Given the description of an element on the screen output the (x, y) to click on. 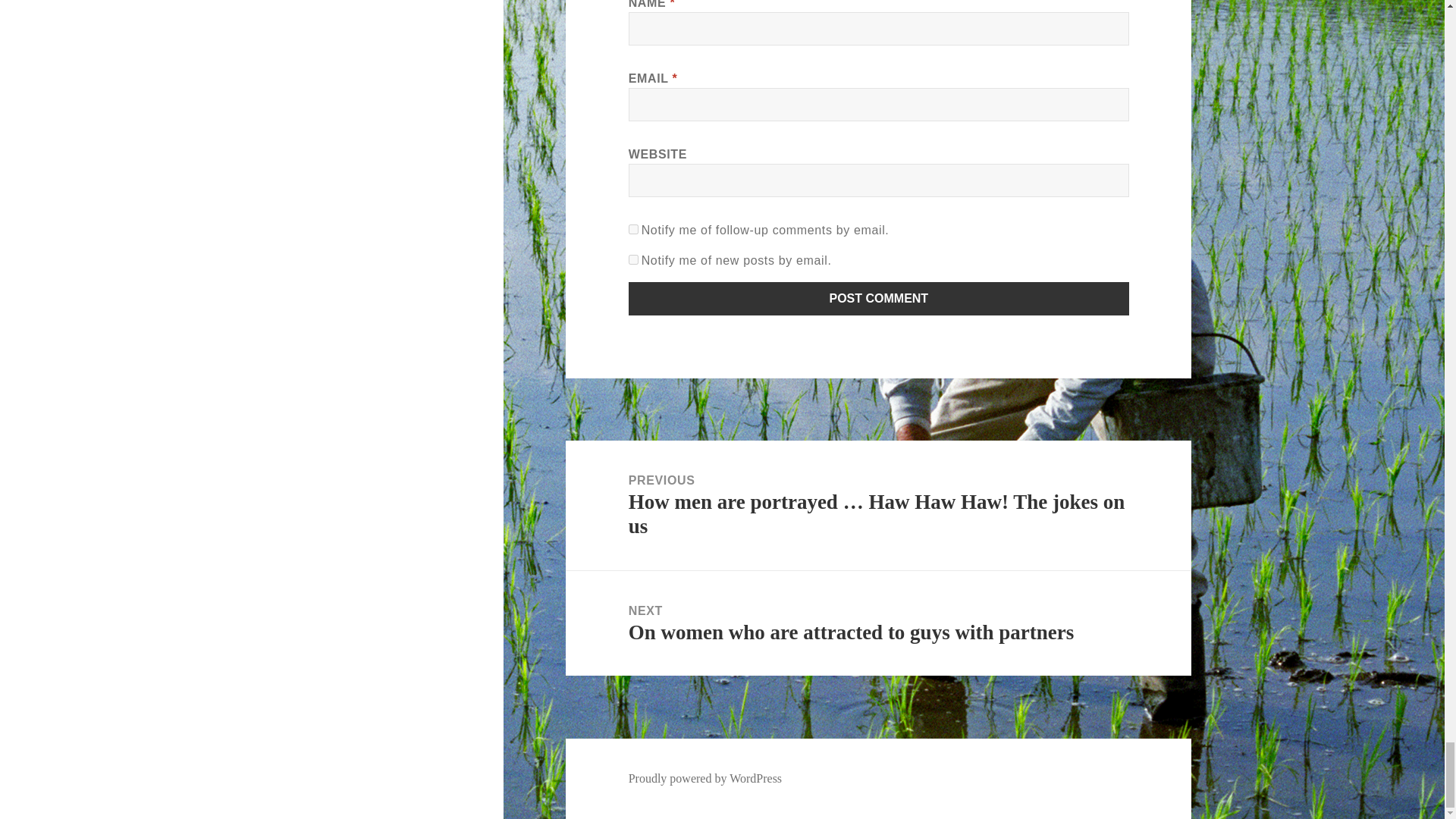
Post Comment (878, 298)
subscribe (633, 229)
subscribe (633, 259)
